Given the description of an element on the screen output the (x, y) to click on. 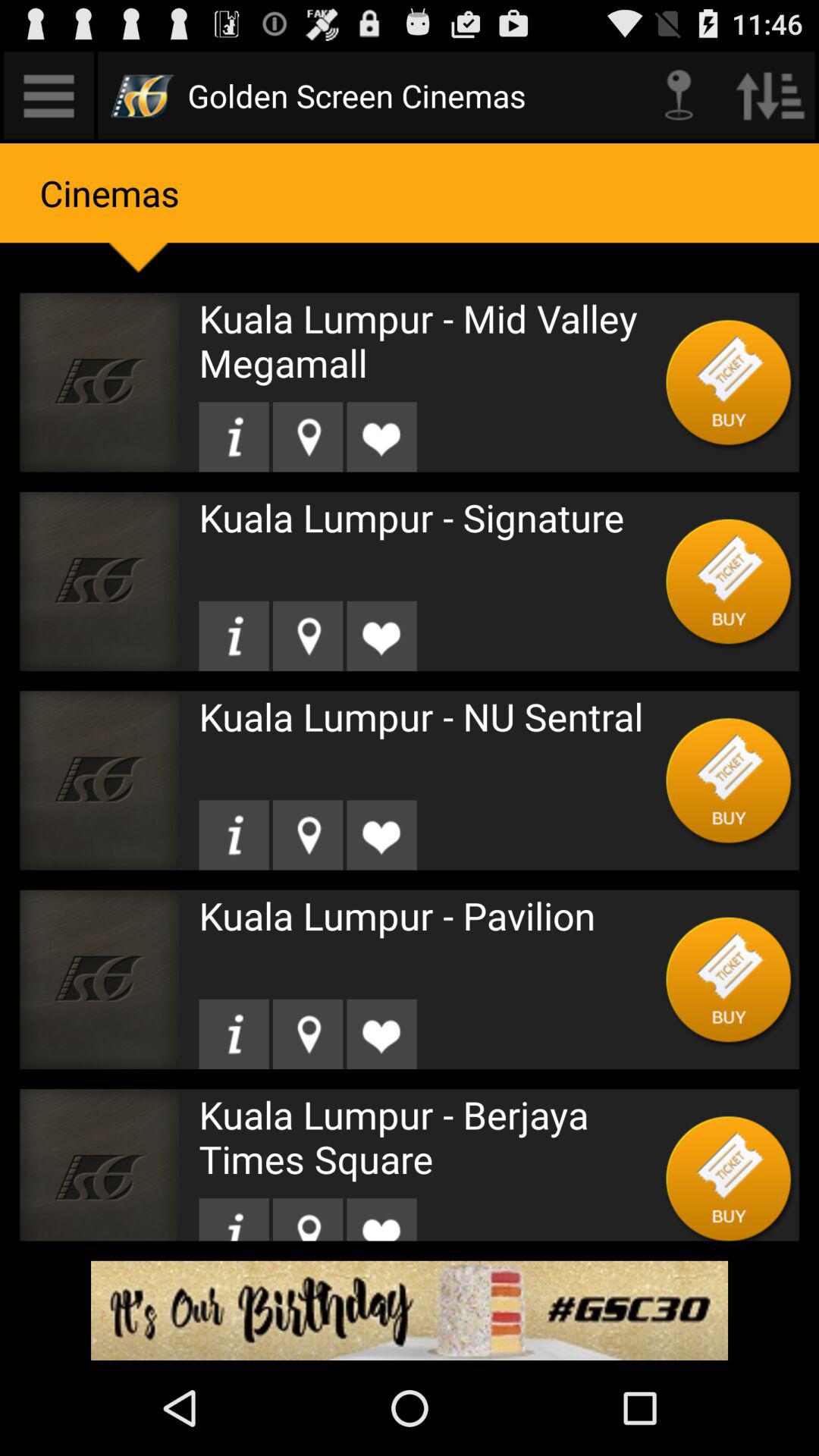
like the item (381, 835)
